Given the description of an element on the screen output the (x, y) to click on. 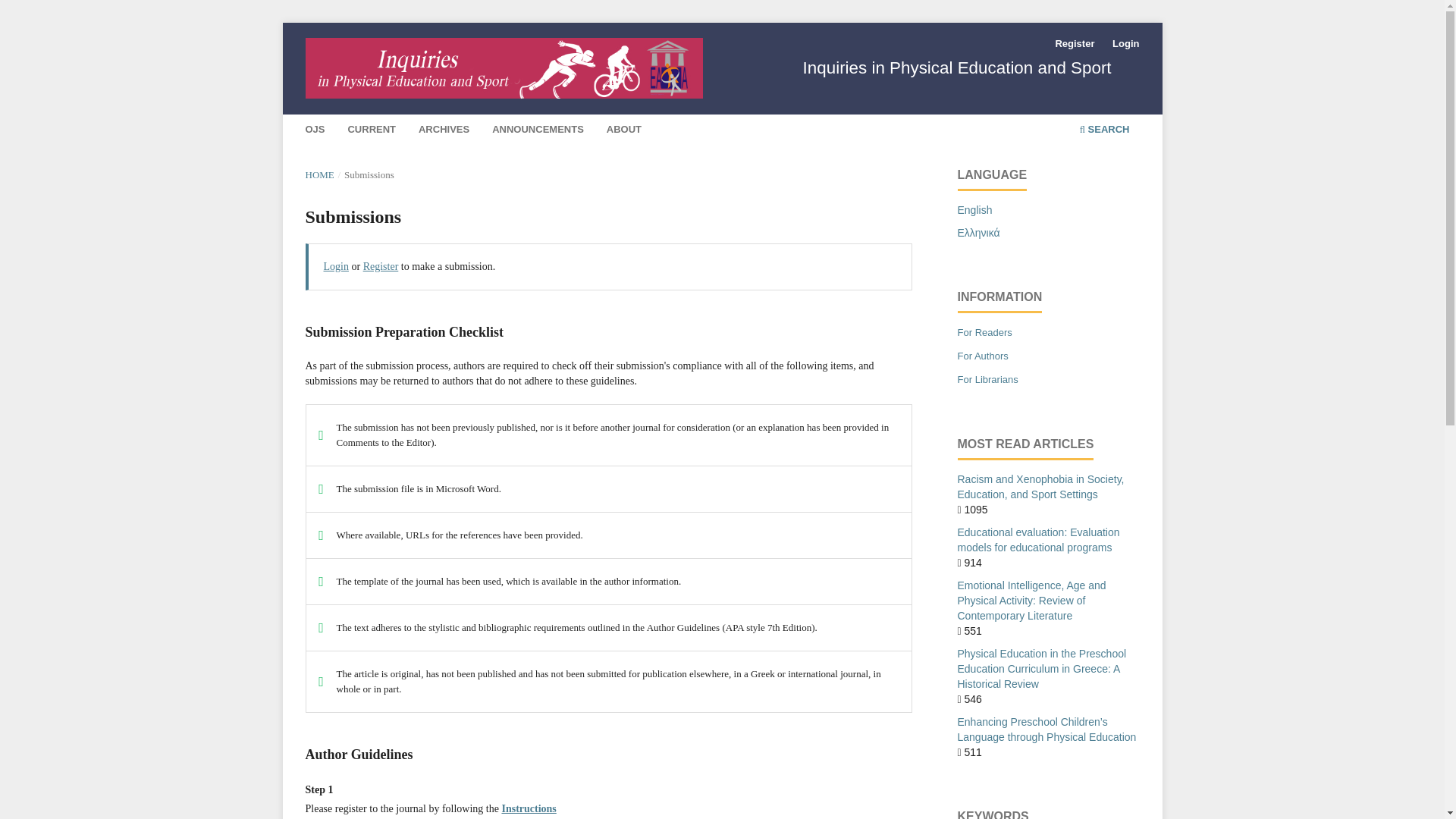
Register (380, 266)
For Librarians (986, 378)
Login (336, 266)
English (973, 209)
CURRENT (371, 130)
HOME (318, 174)
ANNOUNCEMENTS (538, 130)
Instructions (528, 808)
Register (1074, 43)
SEARCH (1104, 130)
OJS (314, 130)
ARCHIVES (443, 130)
